Given the description of an element on the screen output the (x, y) to click on. 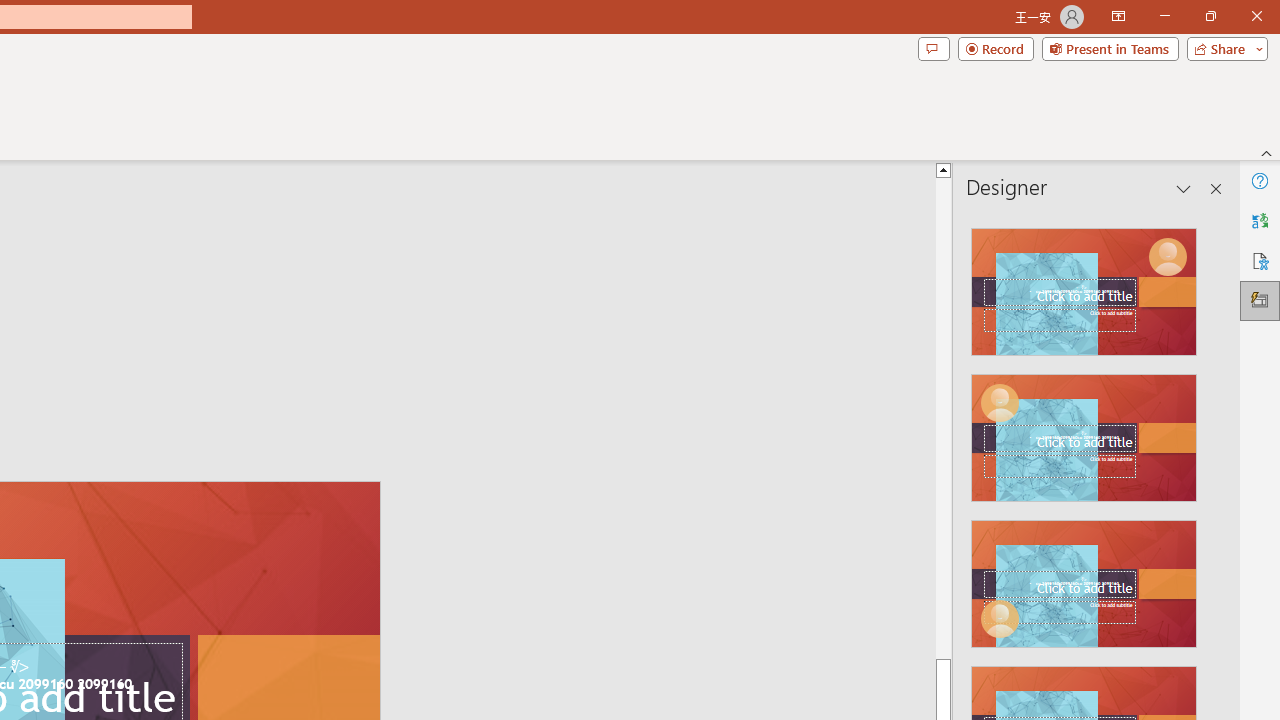
Recommended Design: Design Idea (1083, 286)
